Given the description of an element on the screen output the (x, y) to click on. 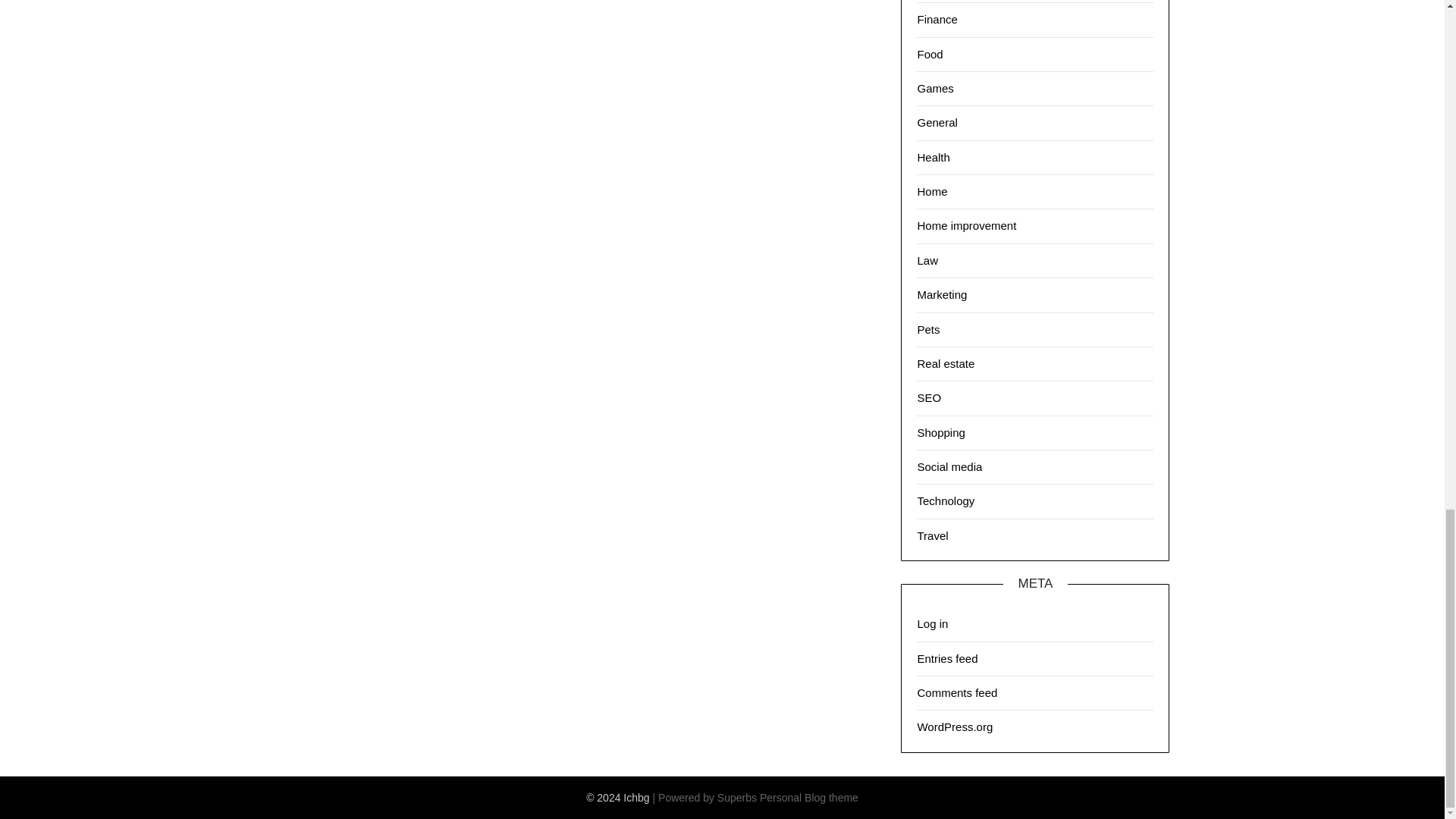
Games (935, 88)
Home (932, 191)
Home improvement (966, 225)
Marketing (941, 294)
Social media (949, 466)
SEO (928, 397)
Real estate (945, 363)
Technology (945, 500)
Shopping (940, 431)
Finance (936, 19)
